Given the description of an element on the screen output the (x, y) to click on. 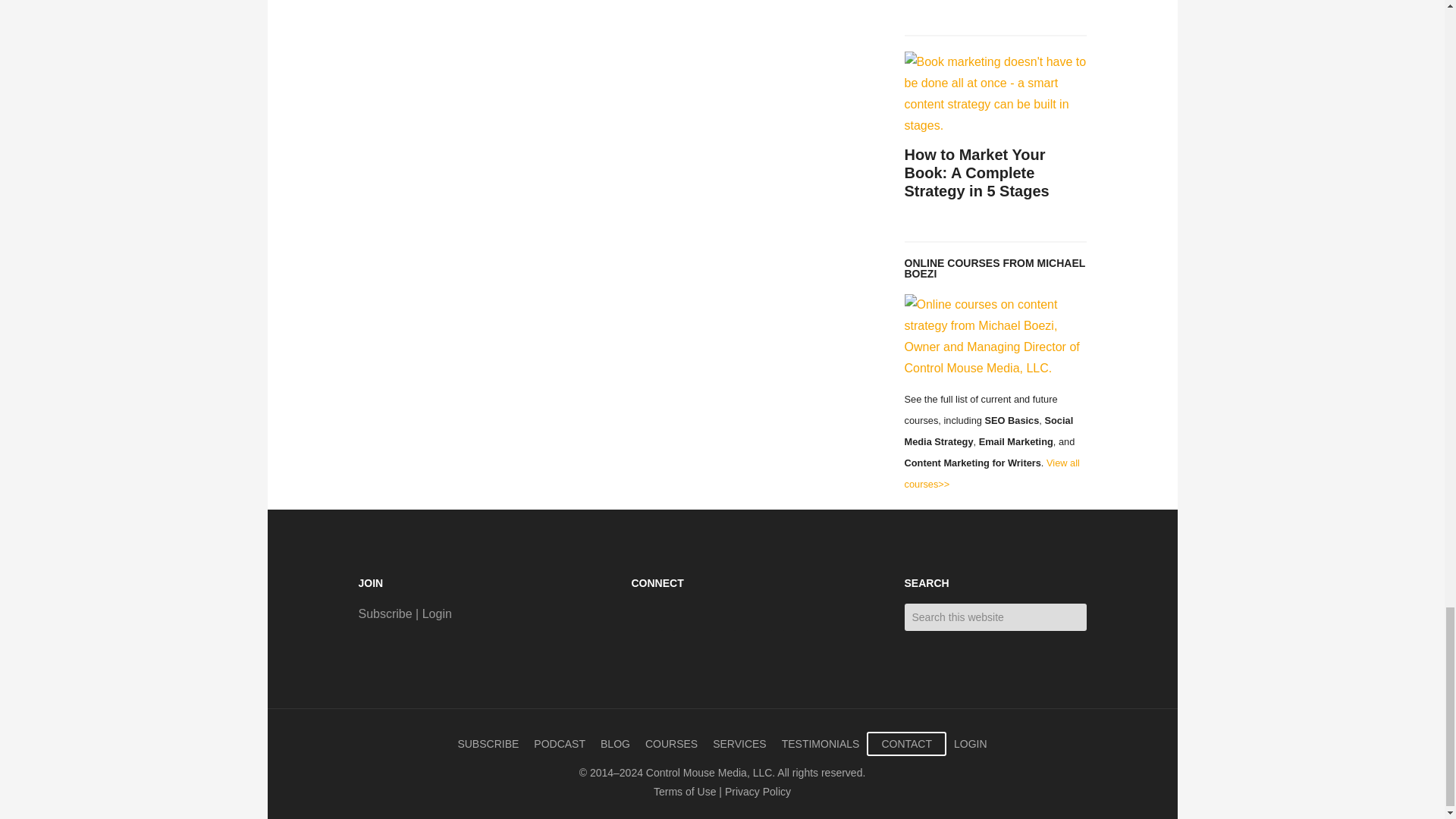
Search (1097, 610)
Search (1097, 610)
